Given the description of an element on the screen output the (x, y) to click on. 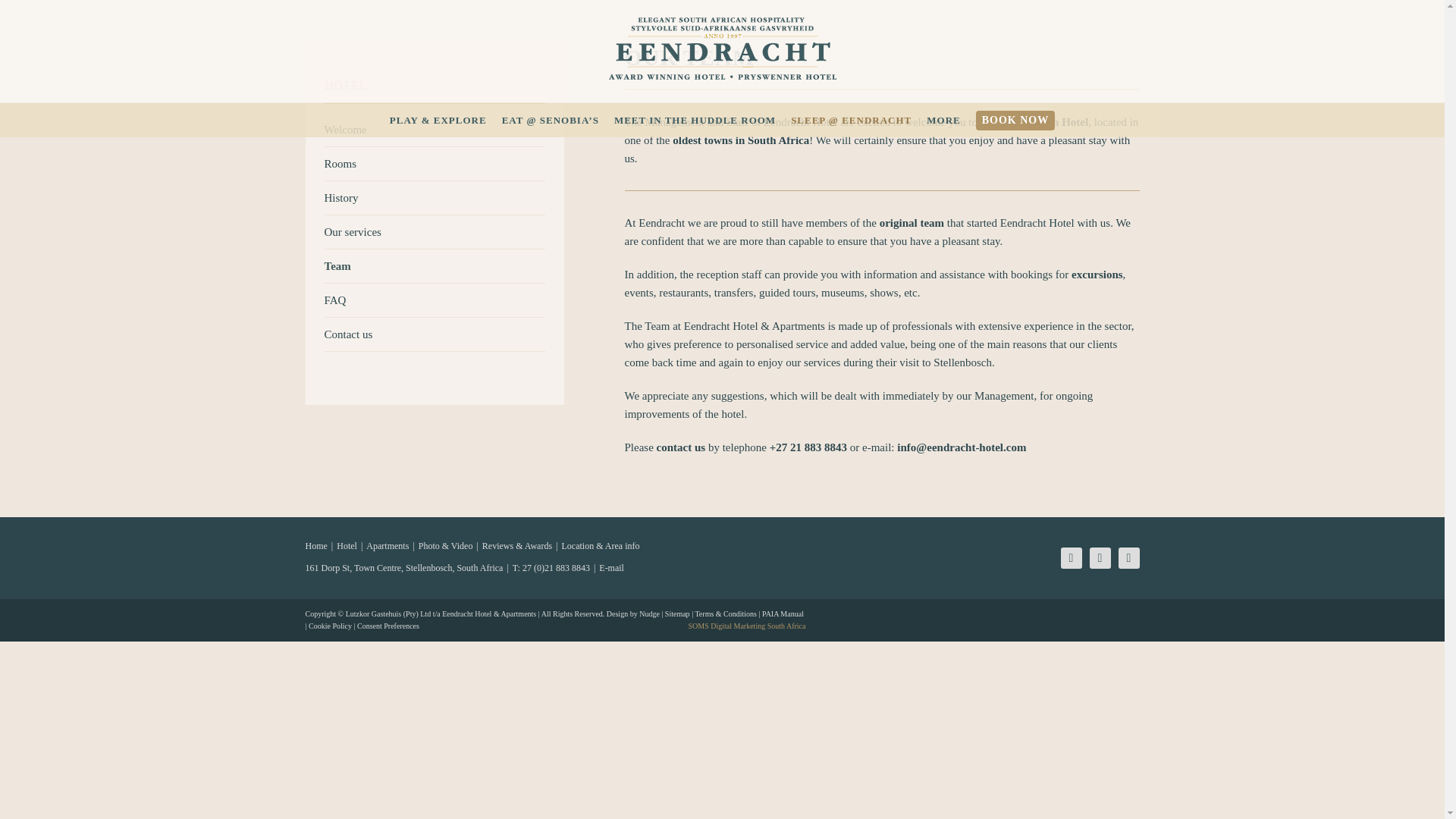
MEET IN THE HUDDLE ROOM (695, 120)
Eendracht Hotel Contact Details (681, 447)
MORE (942, 120)
Facebook (1070, 557)
Email (1128, 557)
YouTube (1099, 557)
Things To Do In Stellenbosch (1096, 274)
History of Eendracht Hotel Stellenbosch (911, 223)
Satsa (813, 550)
